Given the description of an element on the screen output the (x, y) to click on. 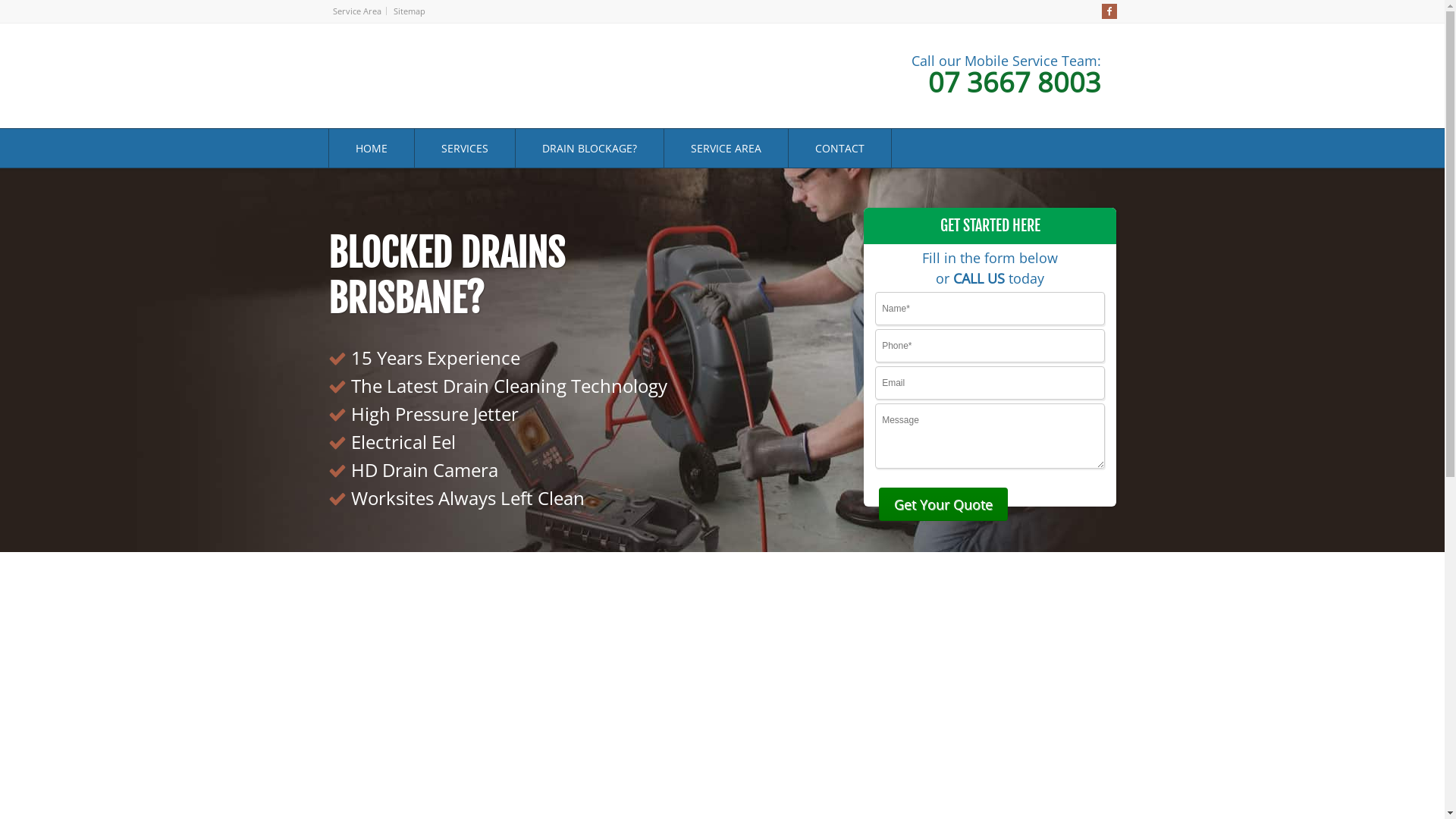
Facebook Element type: hover (1108, 10)
CALL US Element type: text (978, 277)
Get Your Quote Element type: text (942, 503)
SERVICES Element type: text (464, 147)
DRAIN BLOCKAGE? Element type: text (589, 147)
Drain Cleaning Brisbane Element type: hover (410, 106)
CONTACT Element type: text (839, 147)
Service Area Element type: text (356, 10)
SERVICE AREA Element type: text (725, 147)
HOME Element type: text (371, 147)
07 3667 8003 Element type: text (974, 82)
Sitemap Element type: text (408, 10)
